Given the description of an element on the screen output the (x, y) to click on. 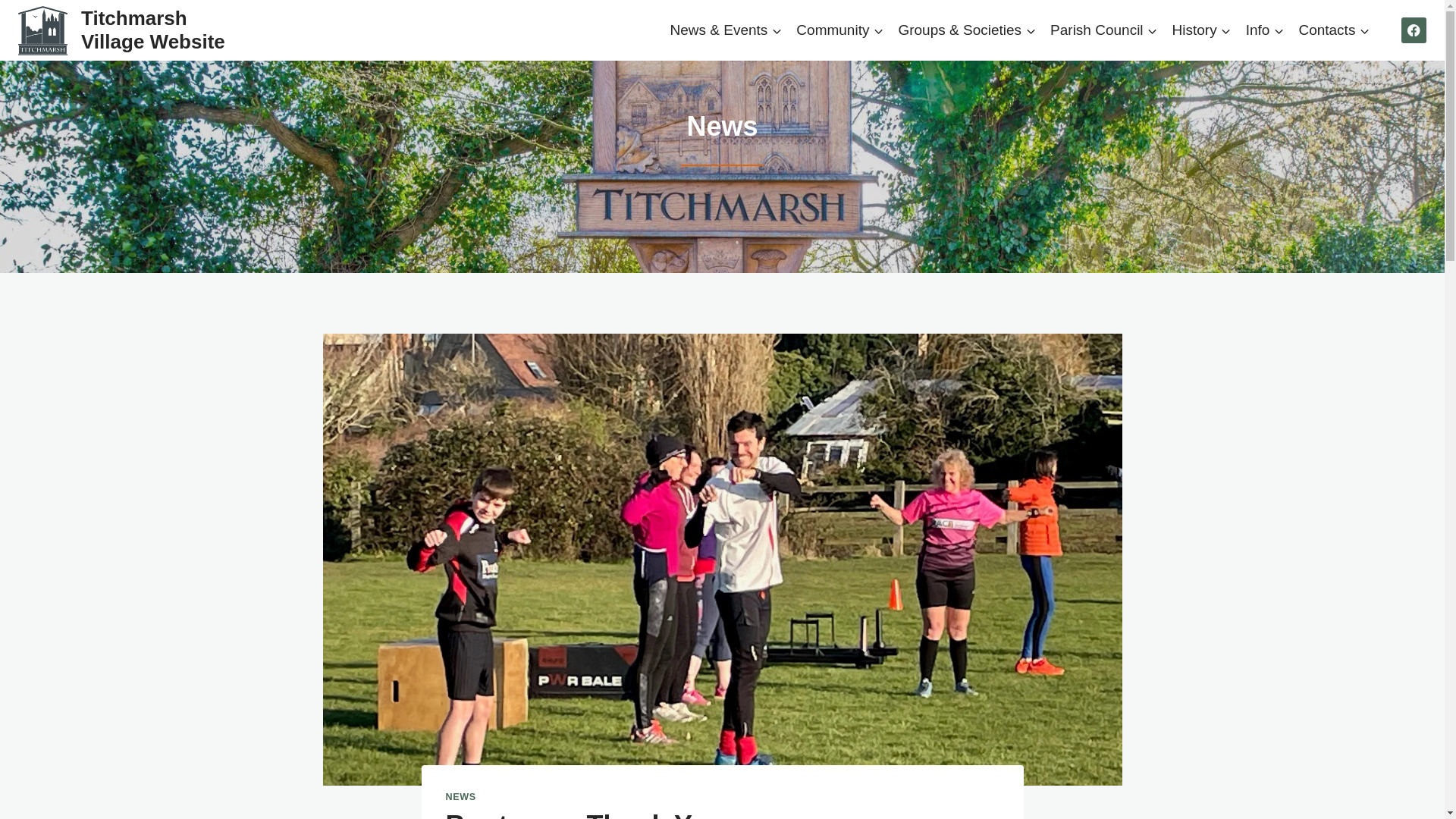
Parish Council (1104, 29)
Community (840, 29)
Titchmarsh Village Website (124, 30)
History (1201, 29)
